Given the description of an element on the screen output the (x, y) to click on. 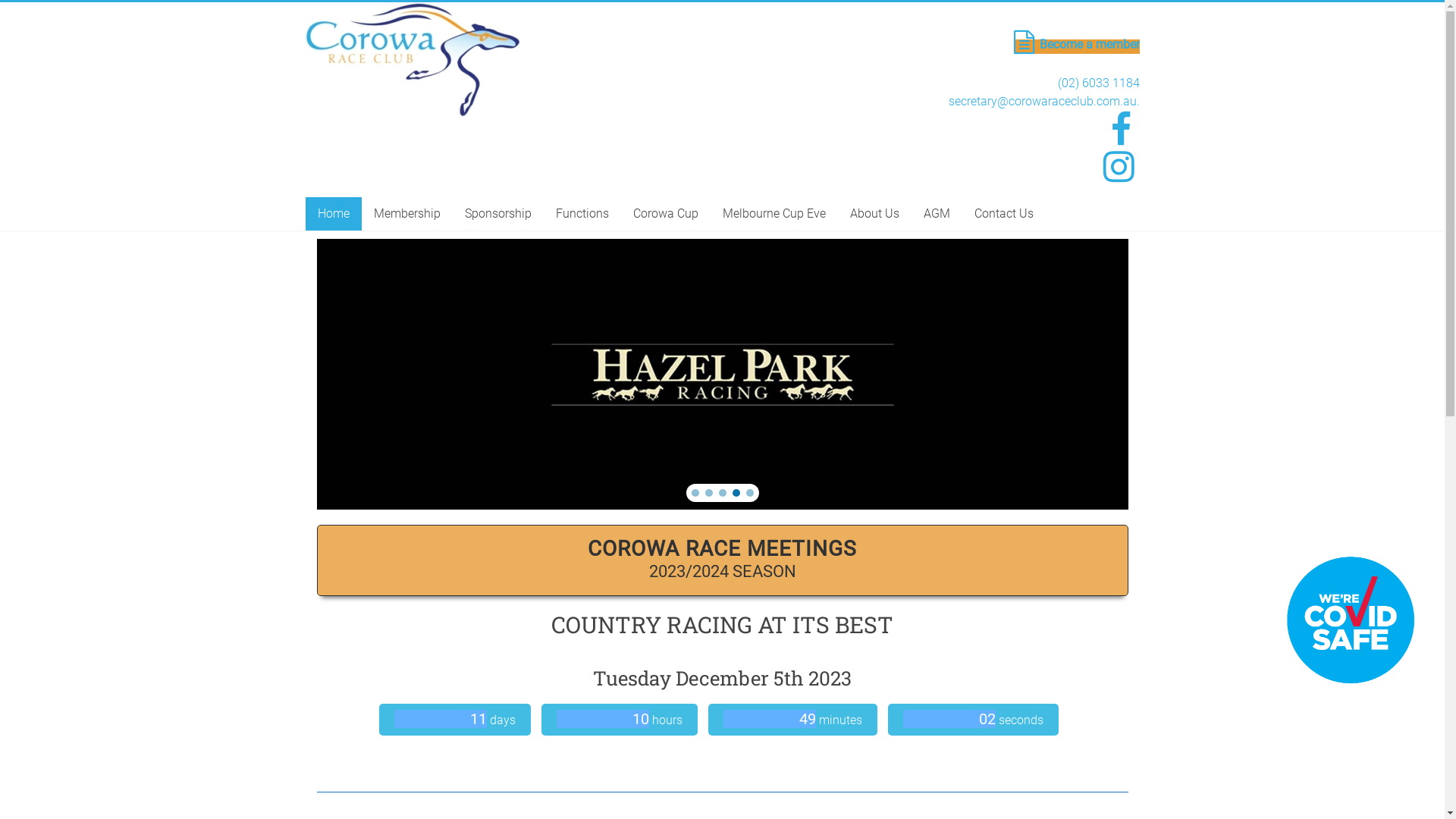
(02) 6033 1184 Element type: text (1098, 82)
Sponsorship Element type: text (496, 213)
AGM Element type: text (936, 213)
Corowa Cup Element type: text (664, 213)
Contact Us Element type: text (1002, 213)
Melbourne Cup Eve Element type: text (773, 213)
Home Element type: text (332, 213)
Become a member Element type: text (1076, 46)
Membership Element type: text (405, 213)
Functions Element type: text (581, 213)
secretary@corowaraceclub.com.au. Element type: text (1043, 101)
About Us Element type: text (873, 213)
